Given the description of an element on the screen output the (x, y) to click on. 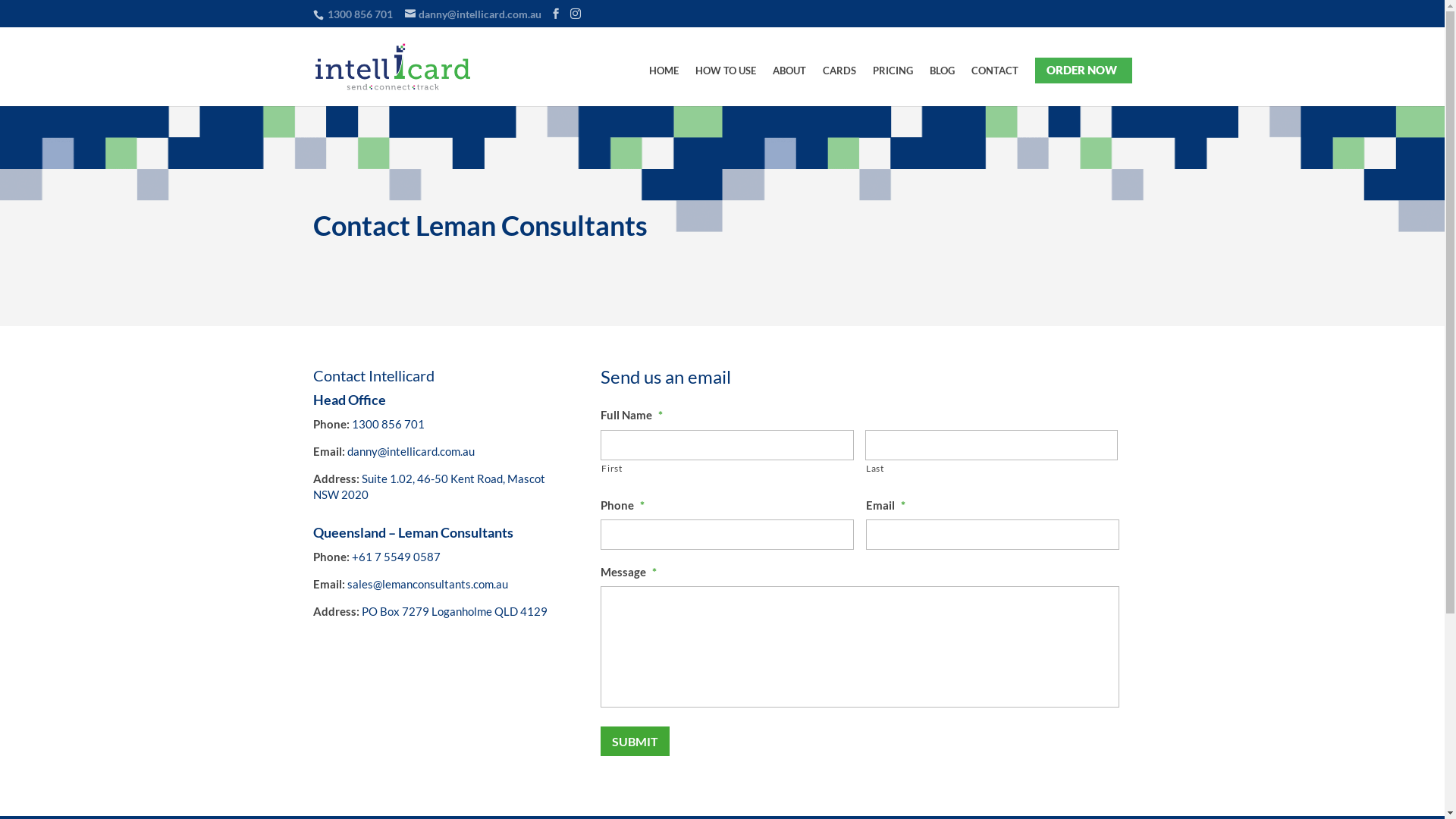
danny@intellicard.com.au Element type: text (472, 13)
CONTACT Element type: text (993, 85)
PRICING Element type: text (892, 85)
Submit Element type: text (634, 741)
CARDS Element type: text (838, 85)
Suite 1.02, 46-50 Kent Road, Mascot NSW 2020 Element type: text (428, 486)
1300 856 701 Element type: text (387, 423)
danny@intellicard.com.au Element type: text (410, 451)
BLOG Element type: text (941, 85)
HOW TO USE Element type: text (724, 85)
HOME Element type: text (663, 85)
ORDER NOW Element type: text (1081, 85)
sales@lemanconsultants.com.au Element type: text (427, 583)
PO Box 7279 Loganholme QLD 4129 Element type: text (453, 611)
ABOUT Element type: text (788, 85)
+61 7 5549 0587 Element type: text (395, 556)
